Given the description of an element on the screen output the (x, y) to click on. 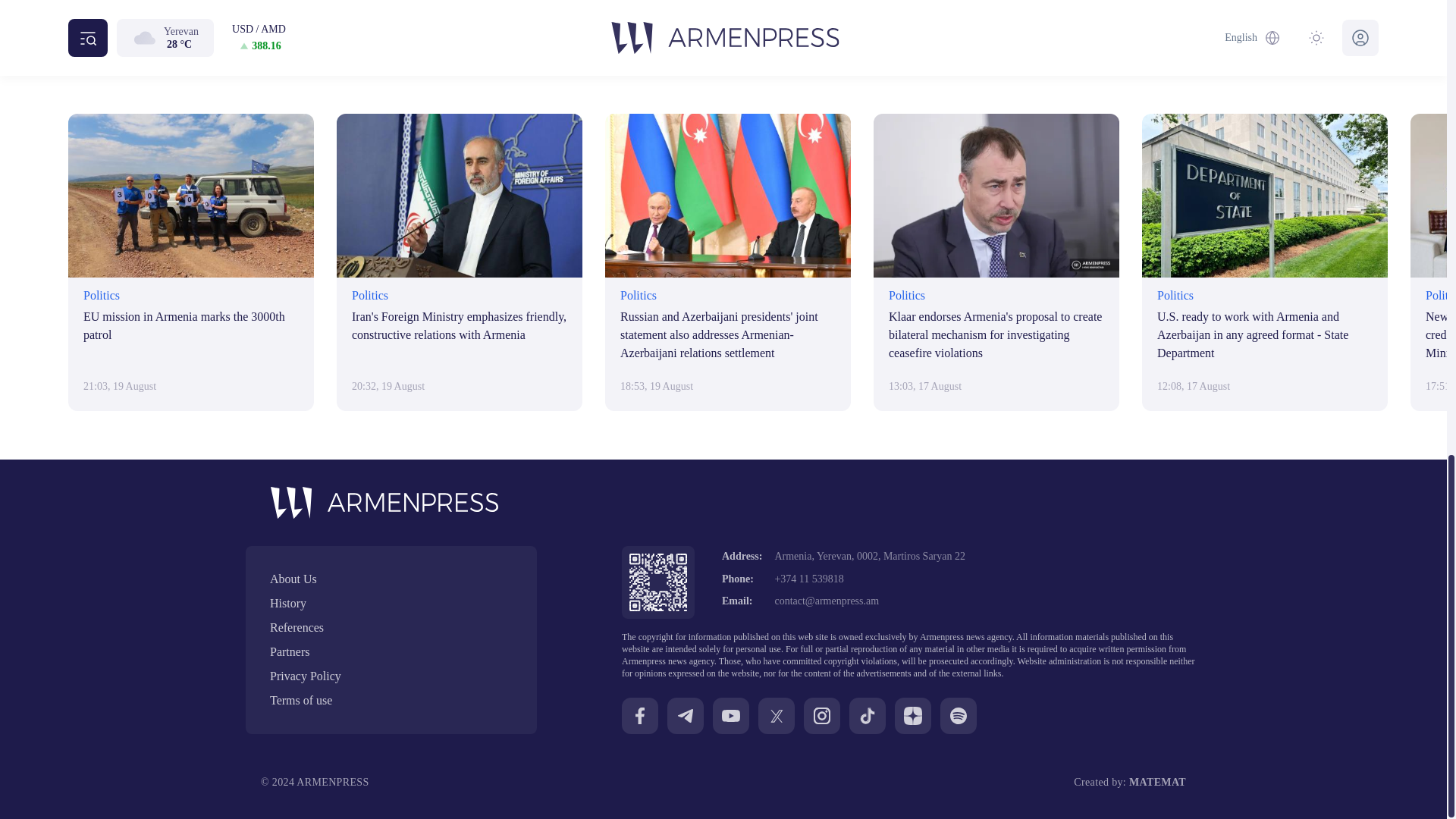
Partners (390, 651)
About Us (390, 579)
Politics (654, 11)
References (390, 628)
Politics (654, 11)
History (390, 603)
Terms of use (390, 700)
Privacy Policy (390, 676)
